Given the description of an element on the screen output the (x, y) to click on. 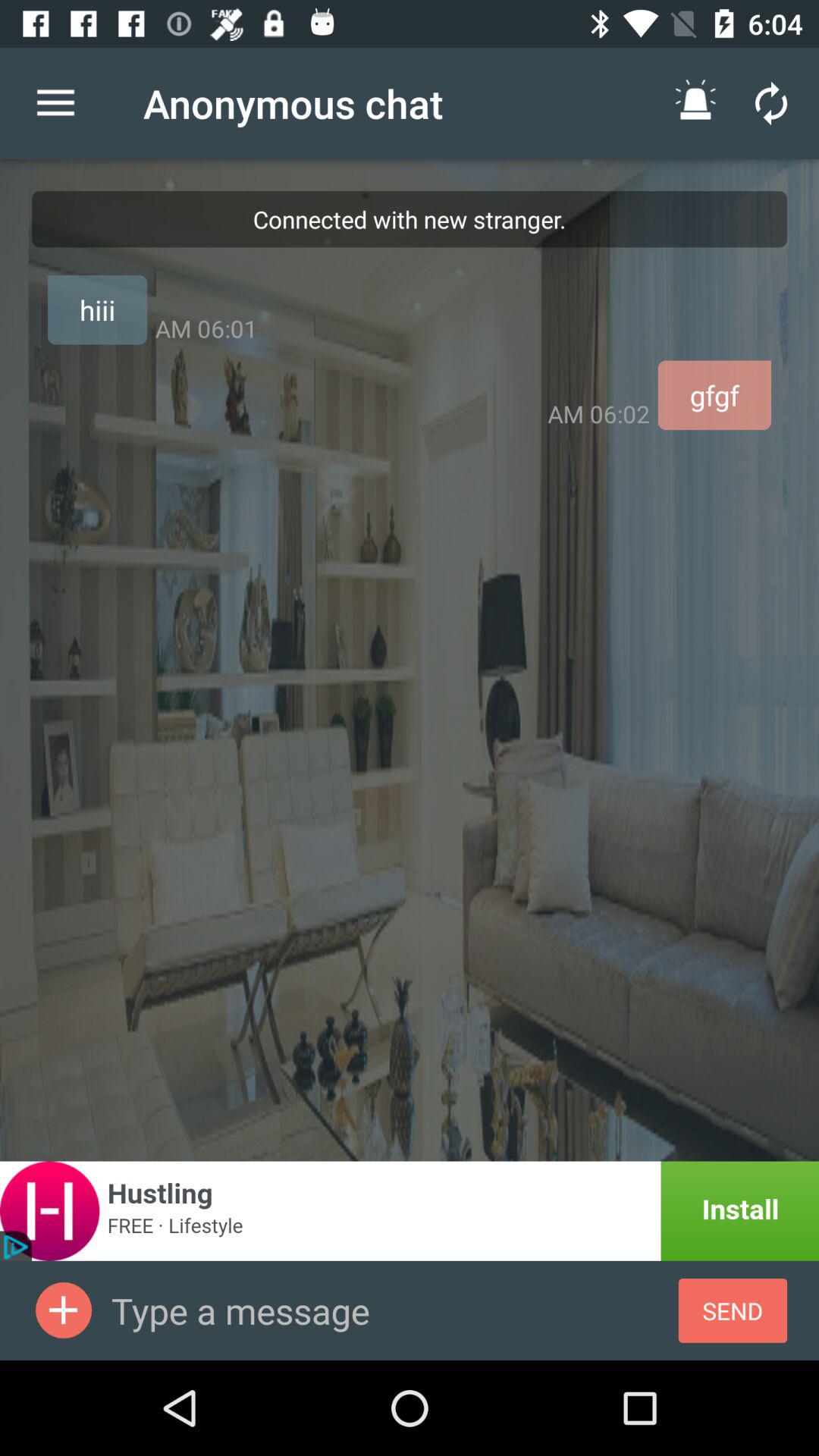
click the refresh icon (771, 103)
select the bottom text field (394, 1311)
select the which is left to the refresh icon (695, 103)
